Given the description of an element on the screen output the (x, y) to click on. 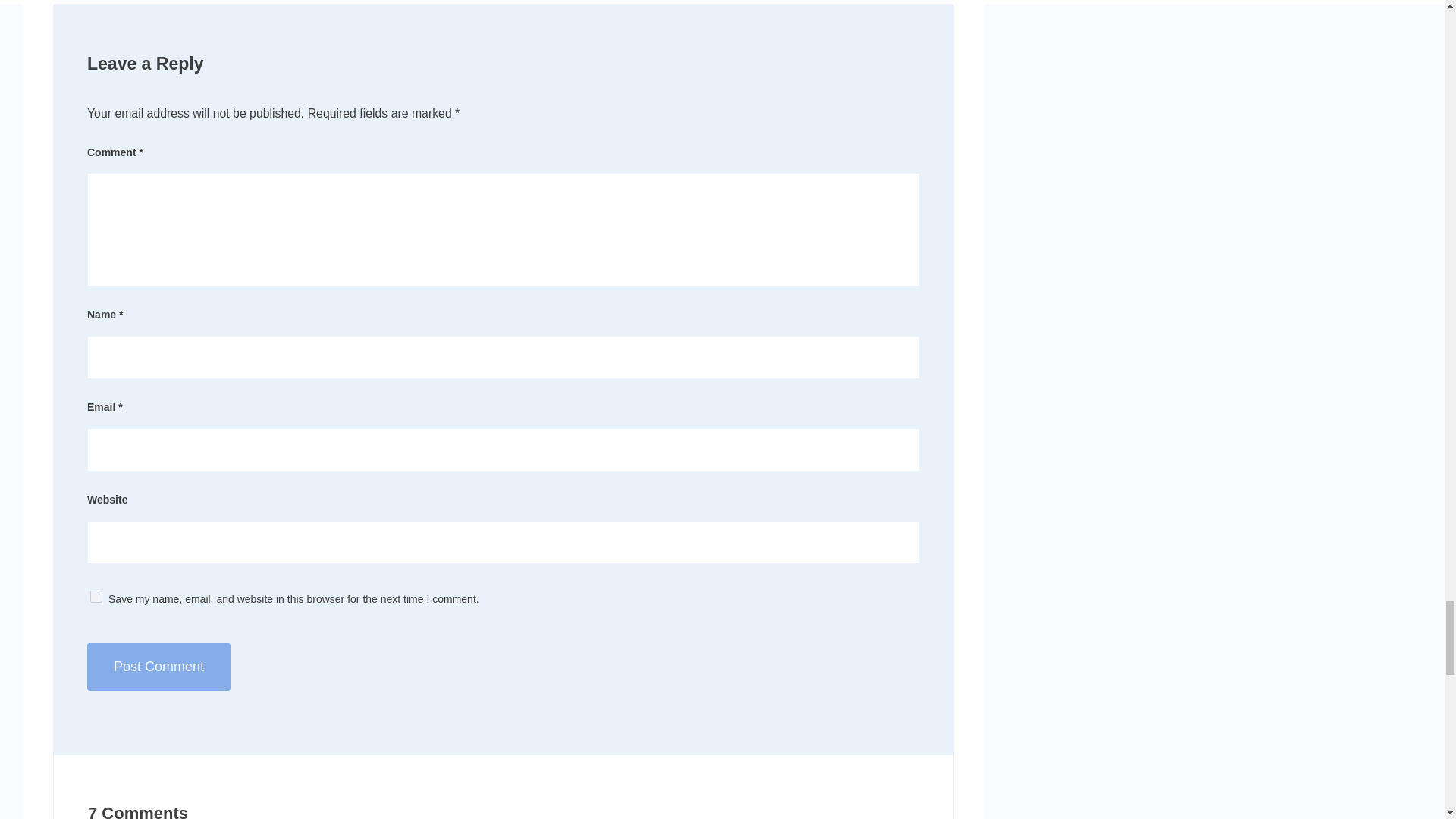
yes (95, 596)
Post Comment (158, 666)
